Given the description of an element on the screen output the (x, y) to click on. 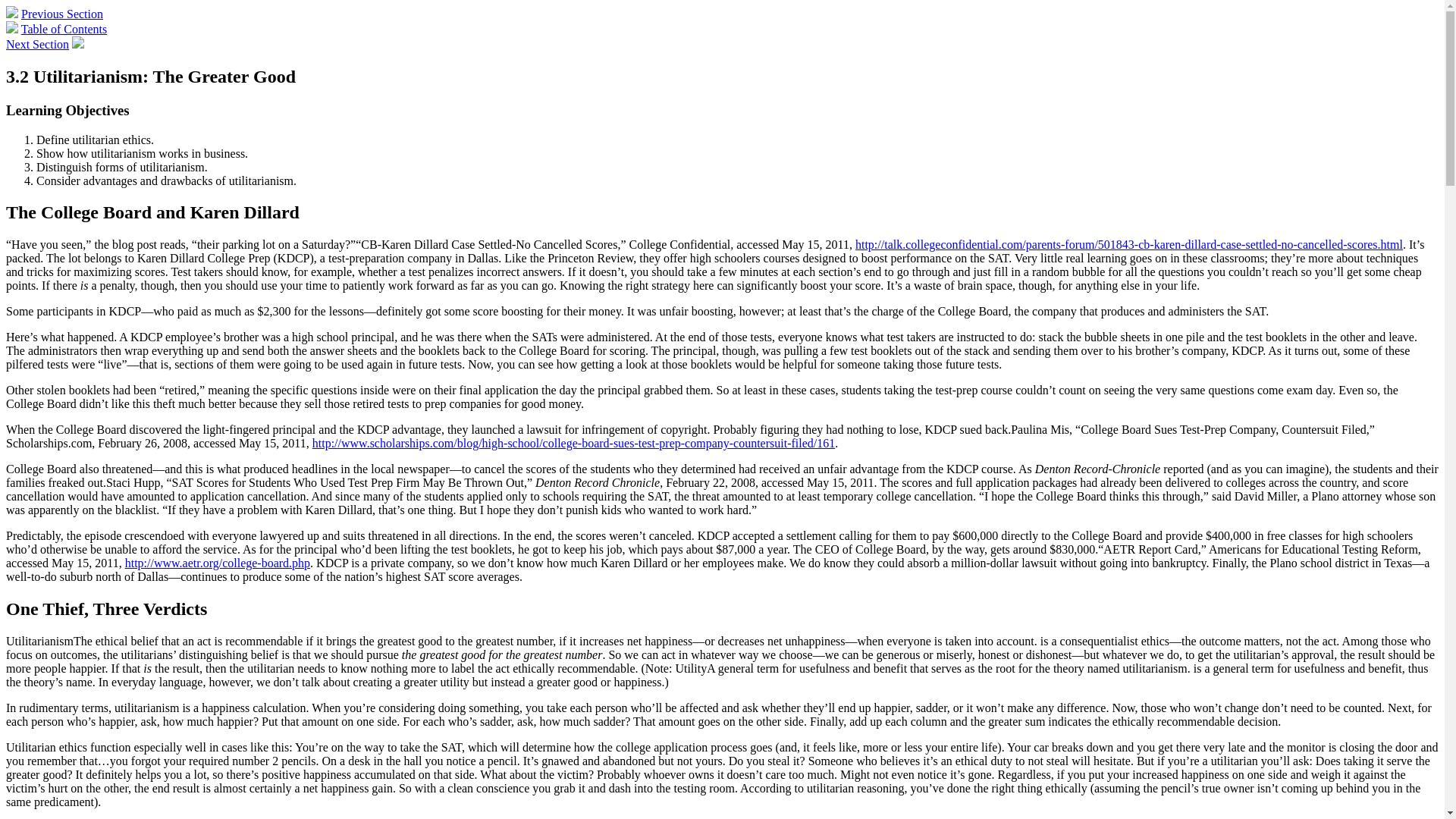
Next Section (36, 43)
Utility (690, 667)
Utilitarianism (39, 640)
Previous Section (62, 13)
Table of Contents (64, 29)
